Given the description of an element on the screen output the (x, y) to click on. 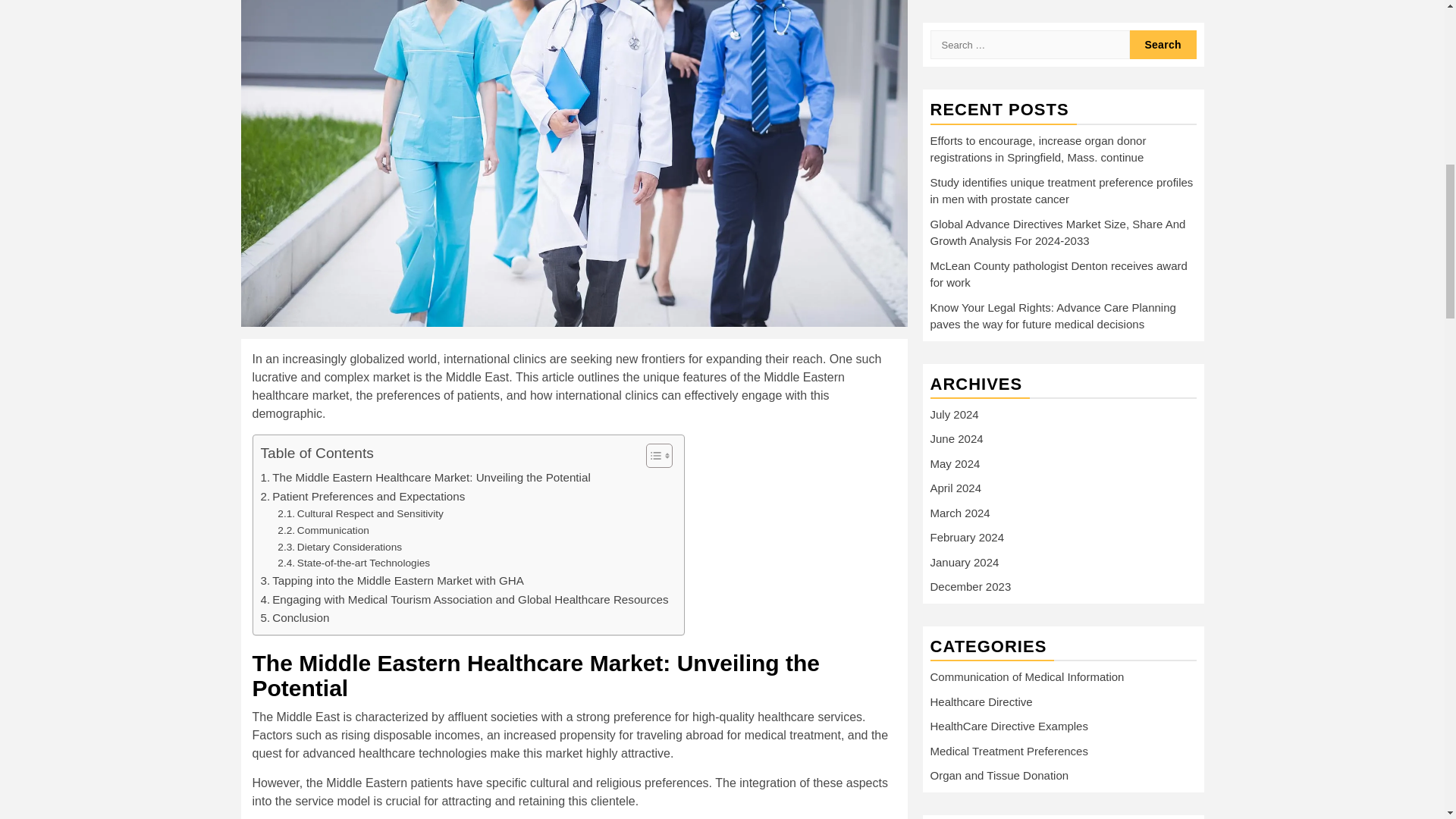
Cultural Respect and Sensitivity (361, 514)
State-of-the-art Technologies (353, 563)
Dietary Considerations (339, 547)
Tapping into the Middle Eastern Market with GHA (392, 580)
Conclusion (295, 618)
Patient Preferences and Expectations (362, 495)
Communication (323, 530)
Communication (323, 530)
Conclusion (295, 618)
Tapping into the Middle Eastern Market with GHA (392, 580)
Patient Preferences and Expectations (362, 495)
State-of-the-art Technologies (353, 563)
Dietary Considerations (339, 547)
